Given the description of an element on the screen output the (x, y) to click on. 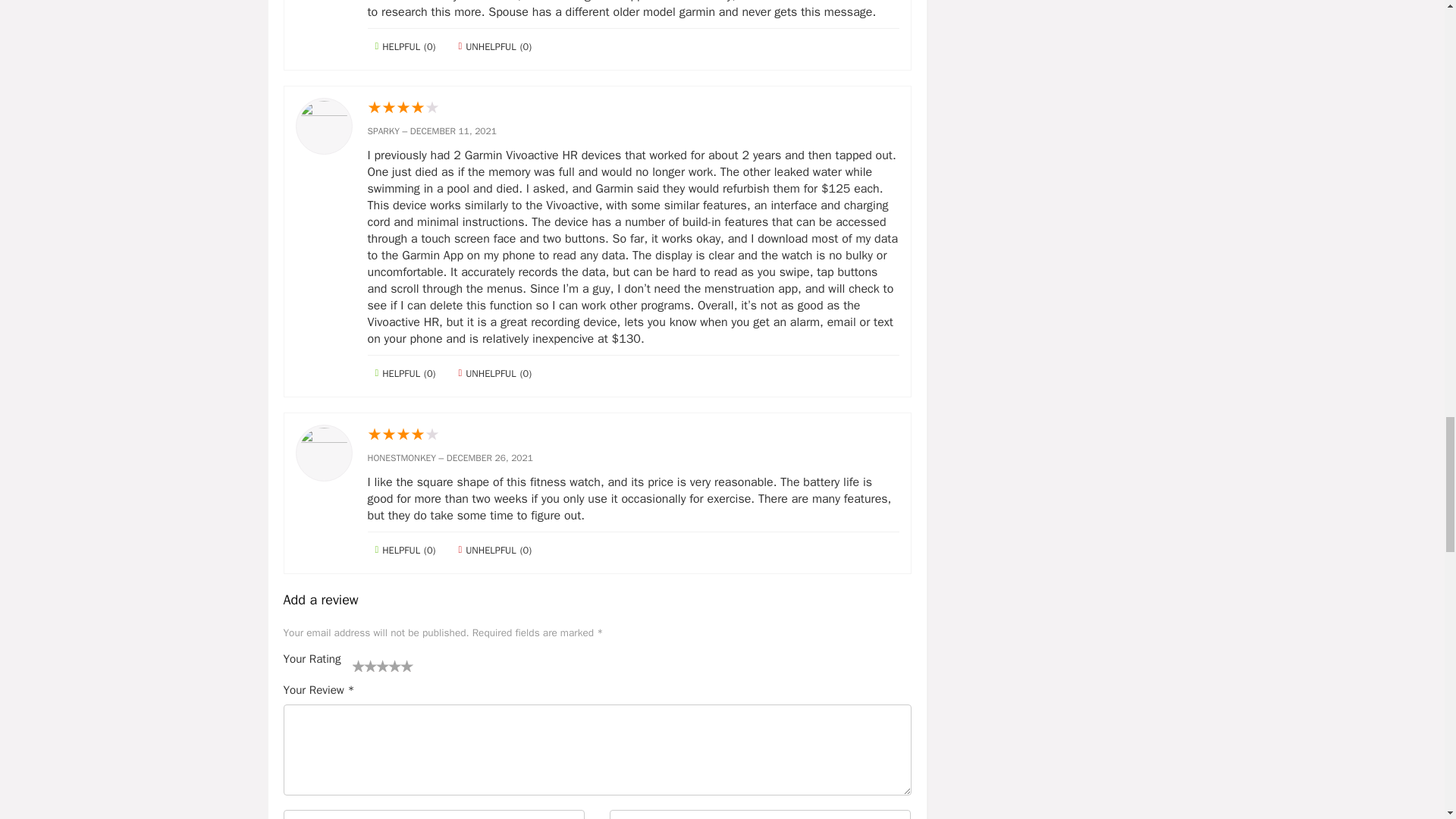
2 (364, 665)
1 (358, 665)
5 (382, 665)
4 (376, 665)
3 (370, 665)
